Given the description of an element on the screen output the (x, y) to click on. 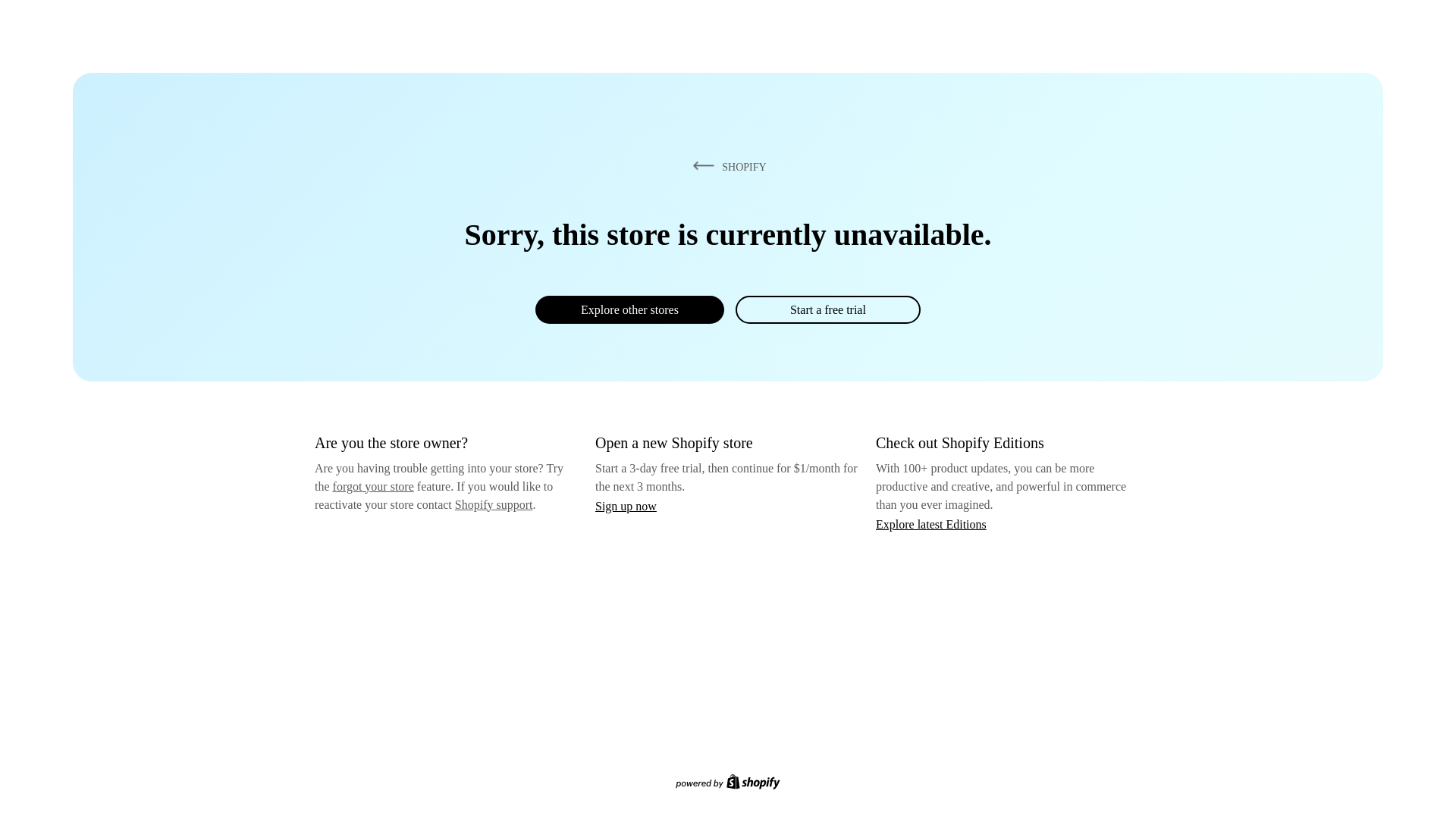
Shopify support Element type: text (494, 504)
Start a free trial Element type: text (827, 309)
forgot your store Element type: text (373, 486)
SHOPIFY Element type: text (727, 166)
Explore latest Editions Element type: text (930, 523)
Sign up now Element type: text (625, 505)
Explore other stores Element type: text (629, 309)
